Given the description of an element on the screen output the (x, y) to click on. 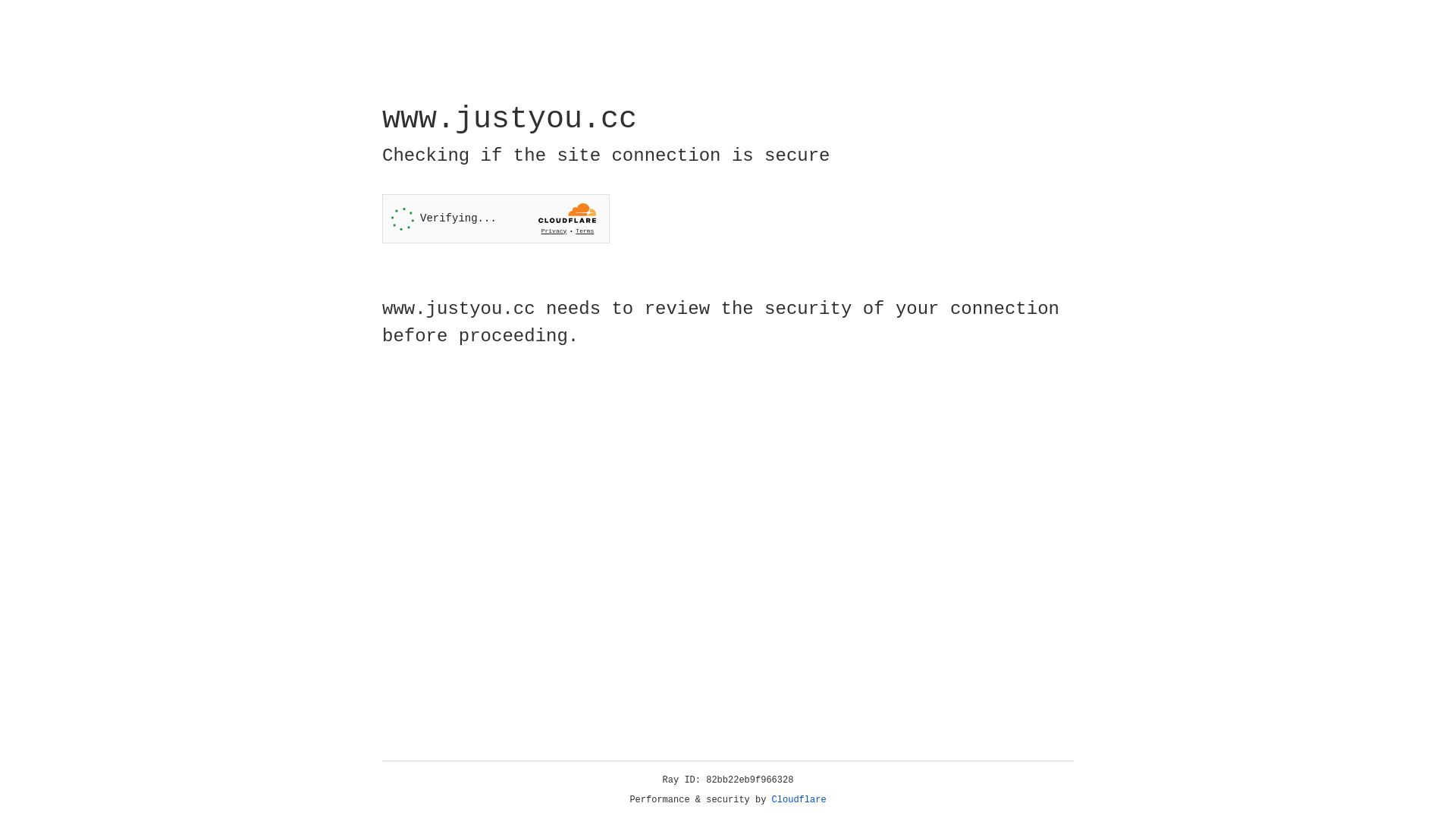
Widget containing a Cloudflare security challenge Element type: hover (495, 218)
Cloudflare Element type: text (798, 799)
